Given the description of an element on the screen output the (x, y) to click on. 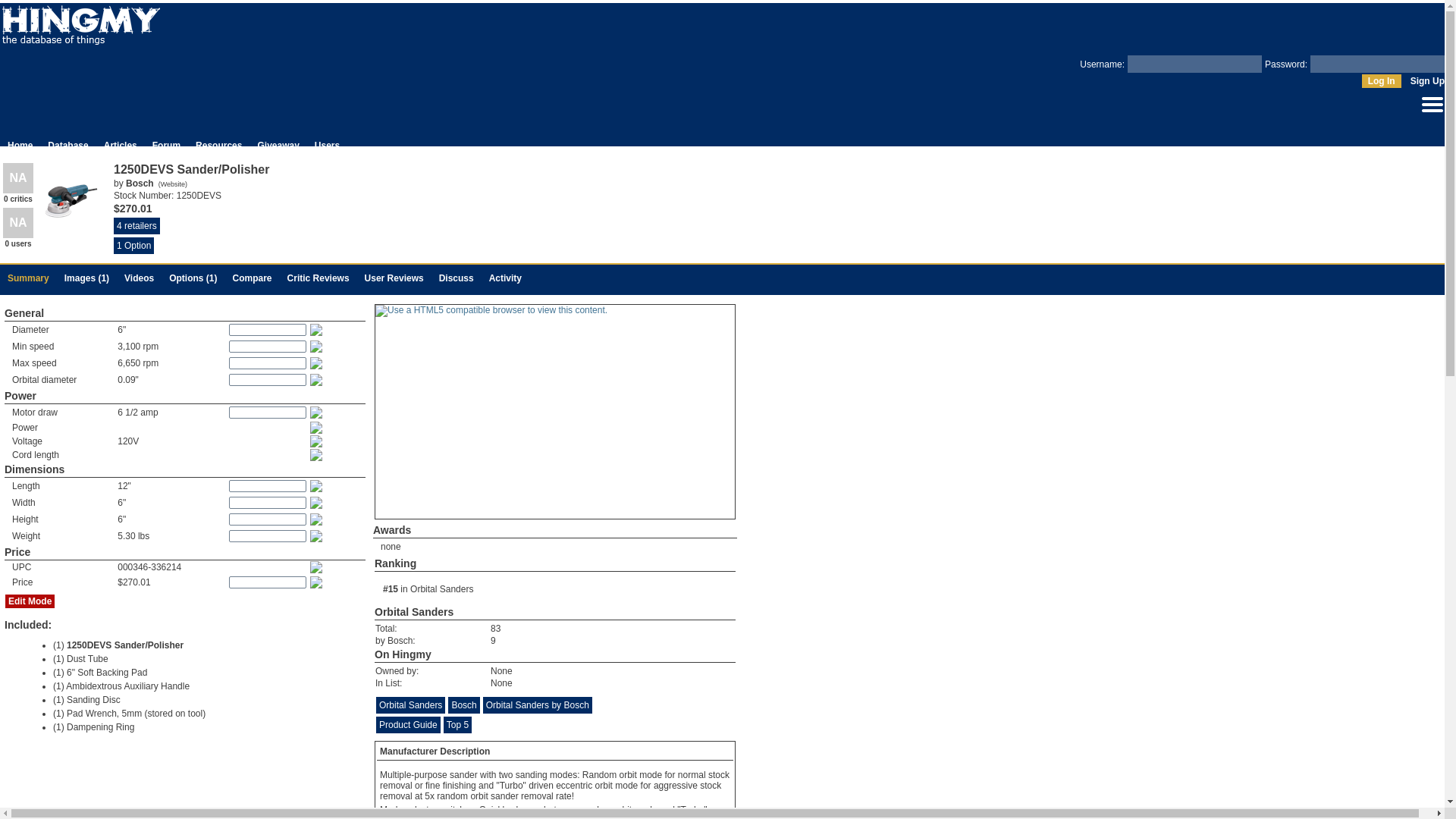
Videos (138, 277)
Critic Reviews (317, 277)
Users (326, 145)
Log In (1380, 80)
Compare (252, 277)
Forum (166, 145)
Log In (1380, 80)
The diameter of the sanding pad. (317, 329)
Summary (28, 277)
Sign Up (1427, 81)
